Given the description of an element on the screen output the (x, y) to click on. 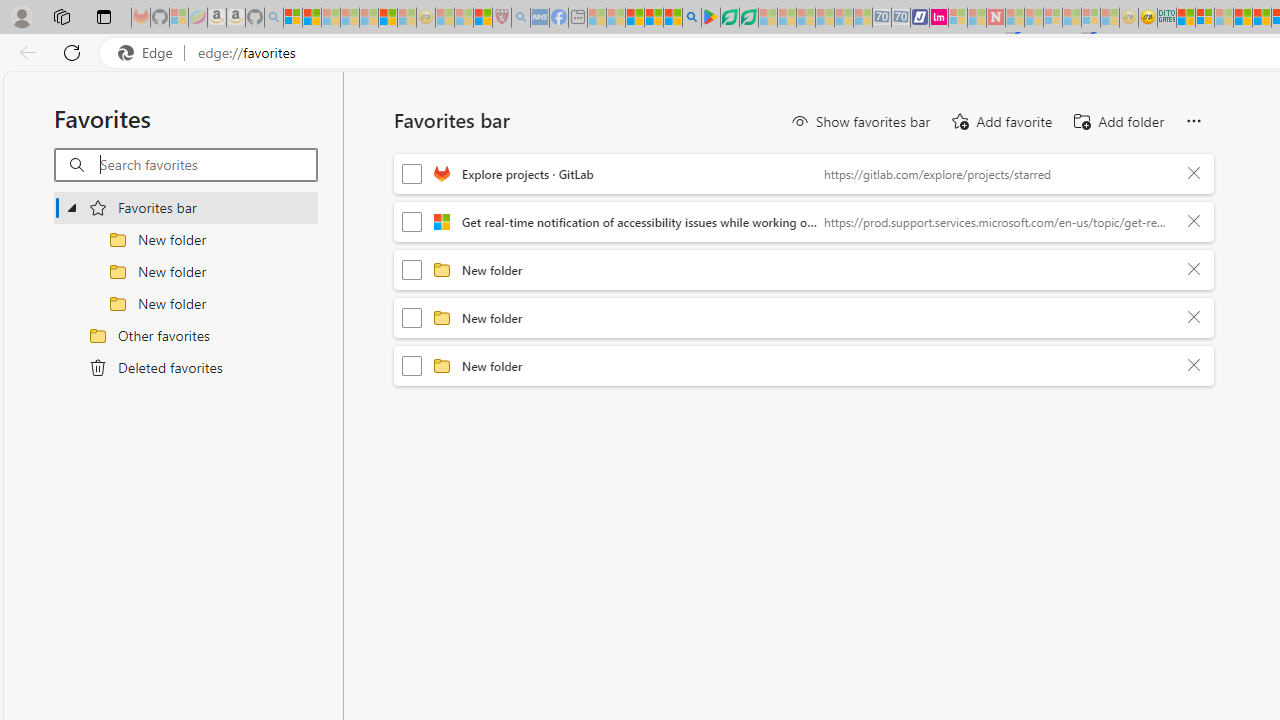
Kinda Frugal - MSN (1262, 17)
The Weather Channel - MSN - Sleeping (331, 17)
Robert H. Shmerling, MD - Harvard Health - Sleeping (501, 17)
MSNBC - MSN (1185, 17)
Pets - MSN (654, 17)
14 Common Myths Debunked By Scientific Facts - Sleeping (1034, 17)
Cheap Car Rentals - Save70.com - Sleeping (881, 17)
